Given the description of an element on the screen output the (x, y) to click on. 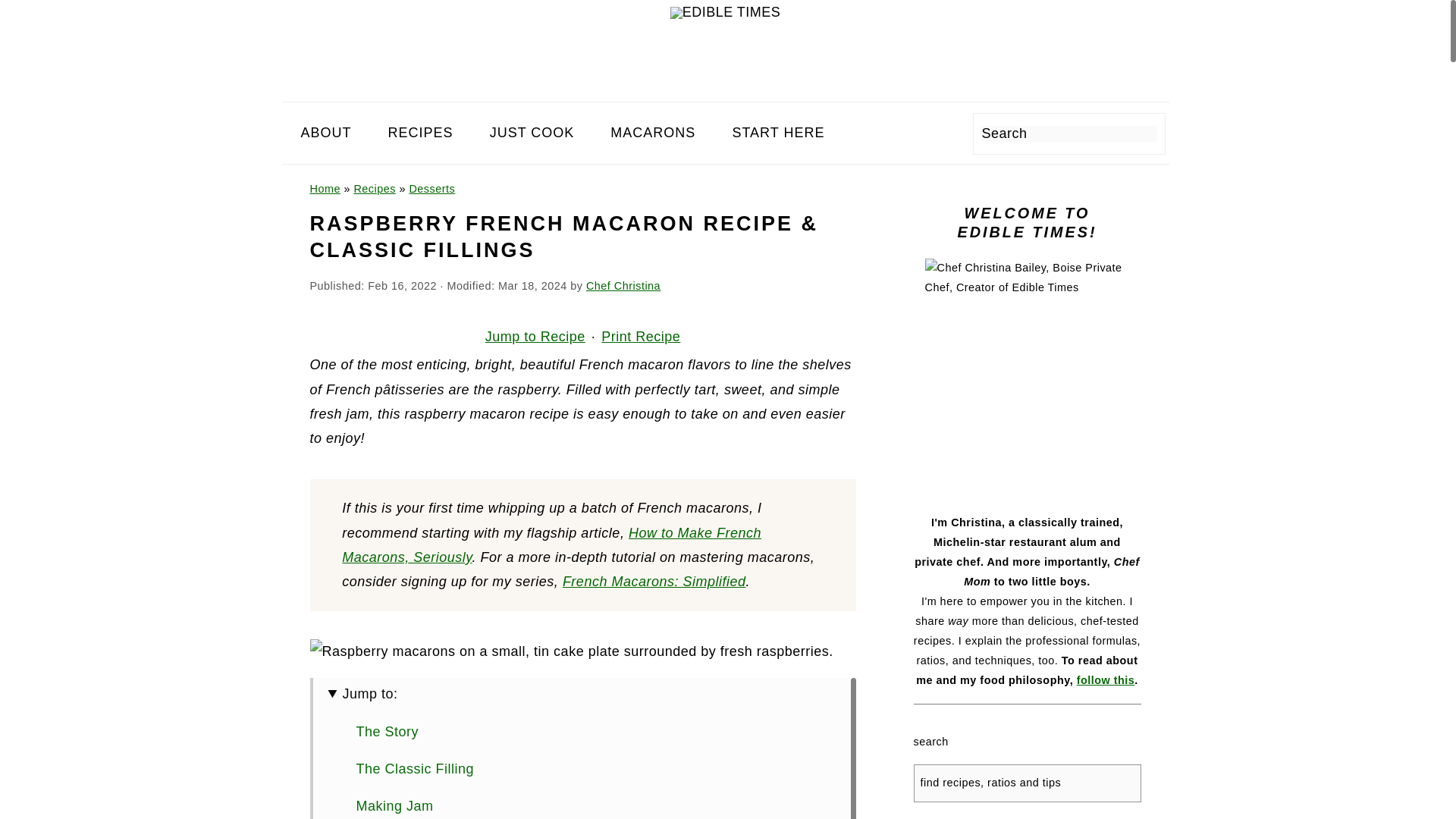
JUST COOK (532, 132)
RECIPES (420, 132)
Facebook (870, 137)
Home (323, 188)
Instagram (898, 137)
Edible Times (724, 12)
Edible Times (724, 11)
ABOUT (326, 132)
Pinterest (925, 137)
START HERE (778, 132)
Instagram (898, 136)
Recipes (374, 188)
Pinterest (925, 136)
